Given the description of an element on the screen output the (x, y) to click on. 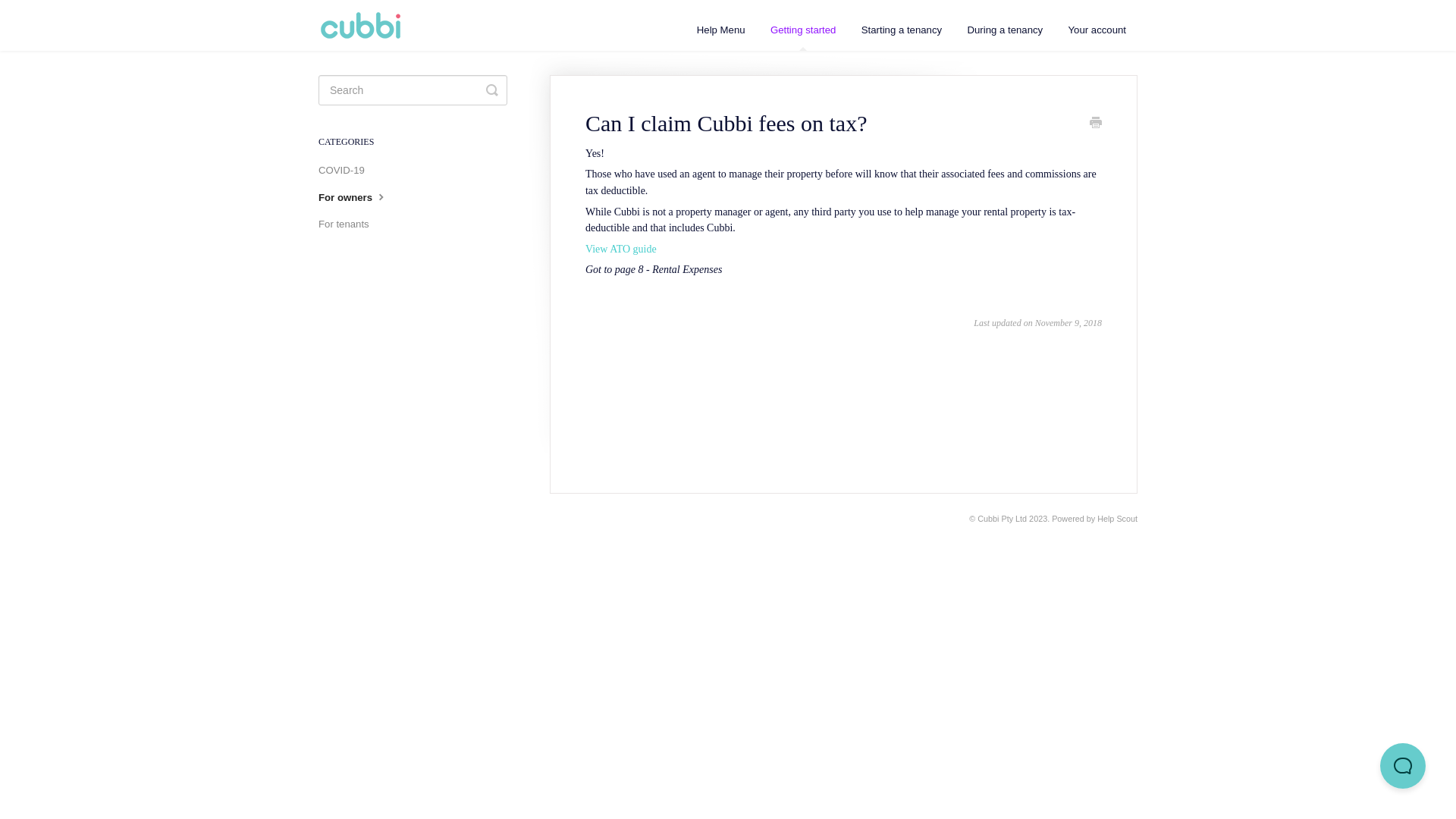
Print Element type: hover (1095, 124)
For tenants Element type: text (349, 224)
During a tenancy Element type: text (1004, 29)
For owners Element type: text (359, 197)
search-query Element type: hover (412, 90)
Your account Element type: text (1097, 29)
Toggle Search Element type: text (492, 90)
Help Menu Element type: text (720, 29)
Help Scout Element type: text (1117, 518)
Starting a tenancy Element type: text (901, 29)
View ATO guide Element type: text (620, 248)
COVID-19 Element type: text (347, 170)
Getting started Element type: text (803, 29)
Cubbi Pty Ltd Element type: text (1001, 518)
Help Scout Beacon - Open Element type: hover (1402, 765)
